Given the description of an element on the screen output the (x, y) to click on. 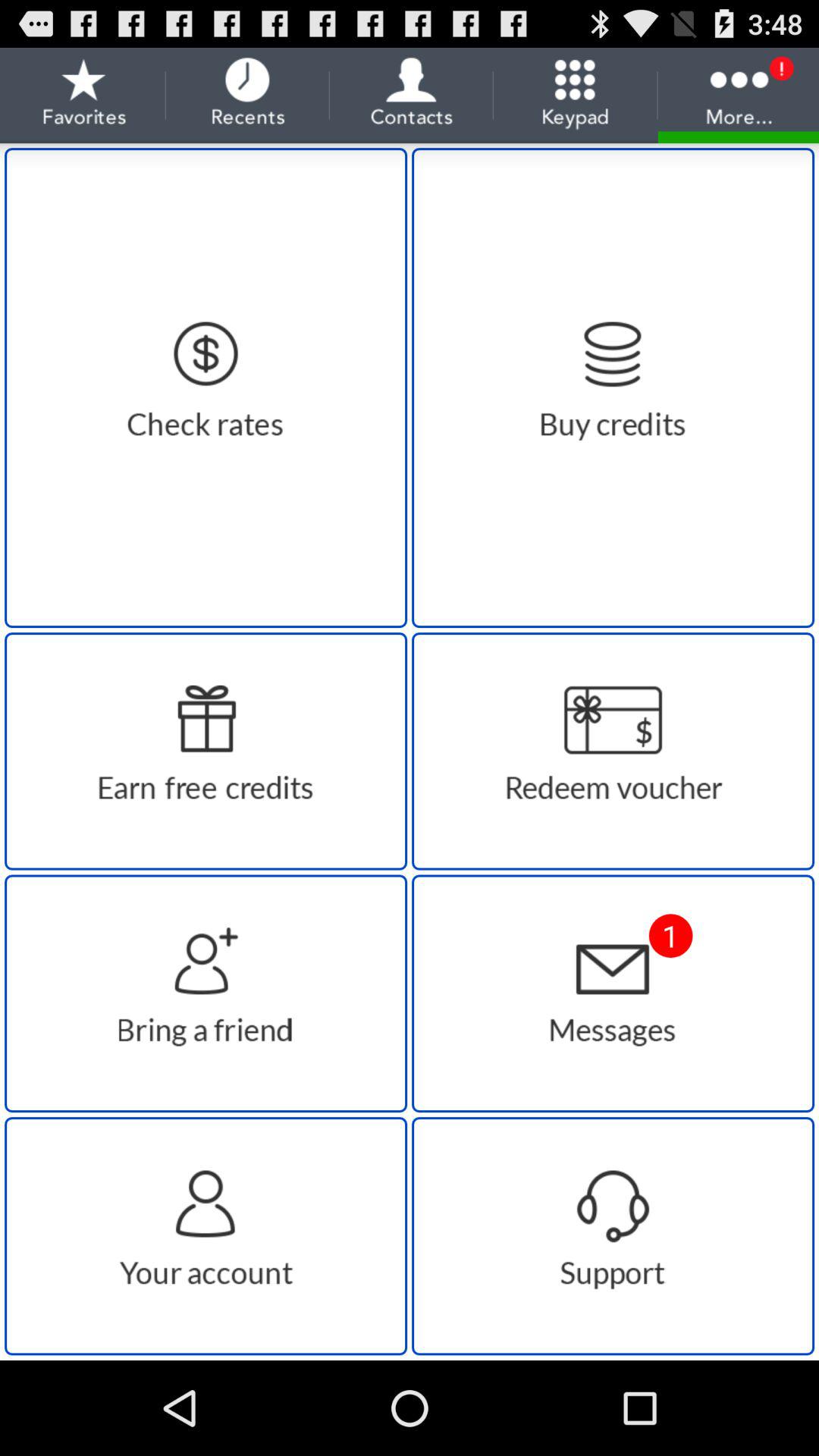
earn credits (205, 751)
